Given the description of an element on the screen output the (x, y) to click on. 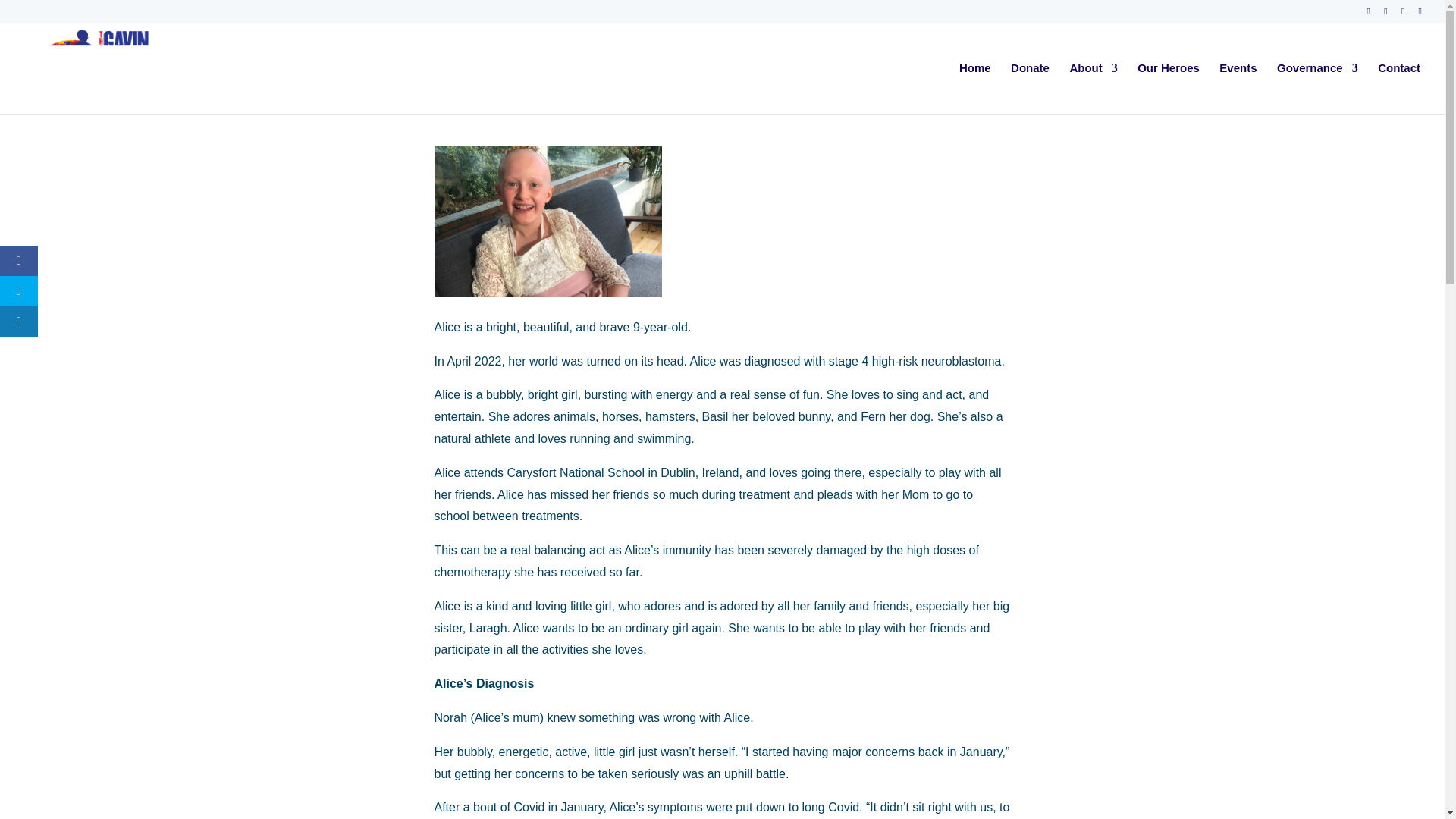
Contact (1399, 88)
About (1092, 88)
Our Heroes (1168, 88)
Events (1238, 88)
Donate (1029, 88)
Home (975, 88)
Governance (1317, 88)
